Given the description of an element on the screen output the (x, y) to click on. 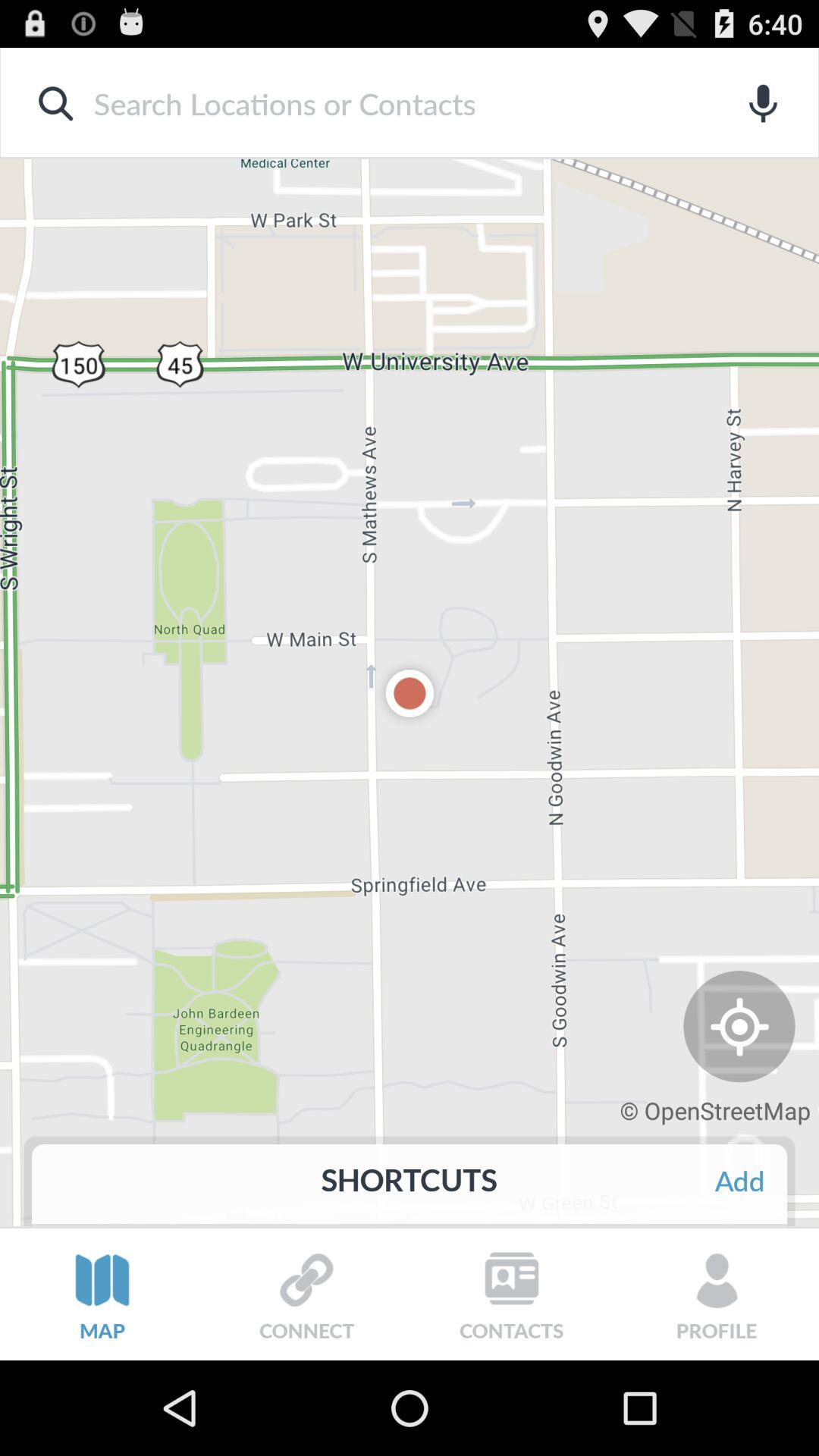
search feature (385, 103)
